Given the description of an element on the screen output the (x, y) to click on. 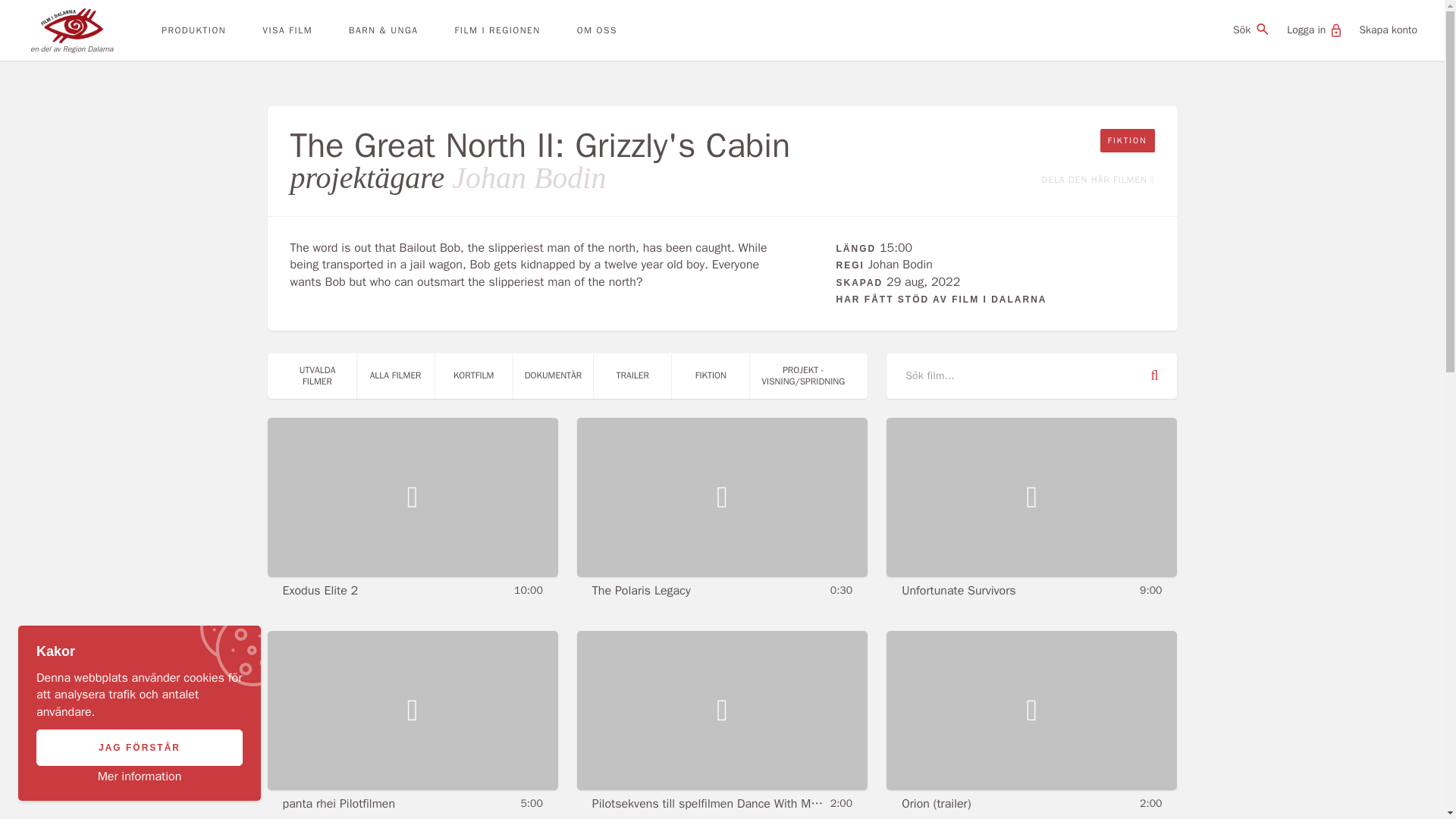
PRODUKTION (193, 30)
VISA FILM (287, 30)
en del av Region Dalarna (56, 29)
